Given the description of an element on the screen output the (x, y) to click on. 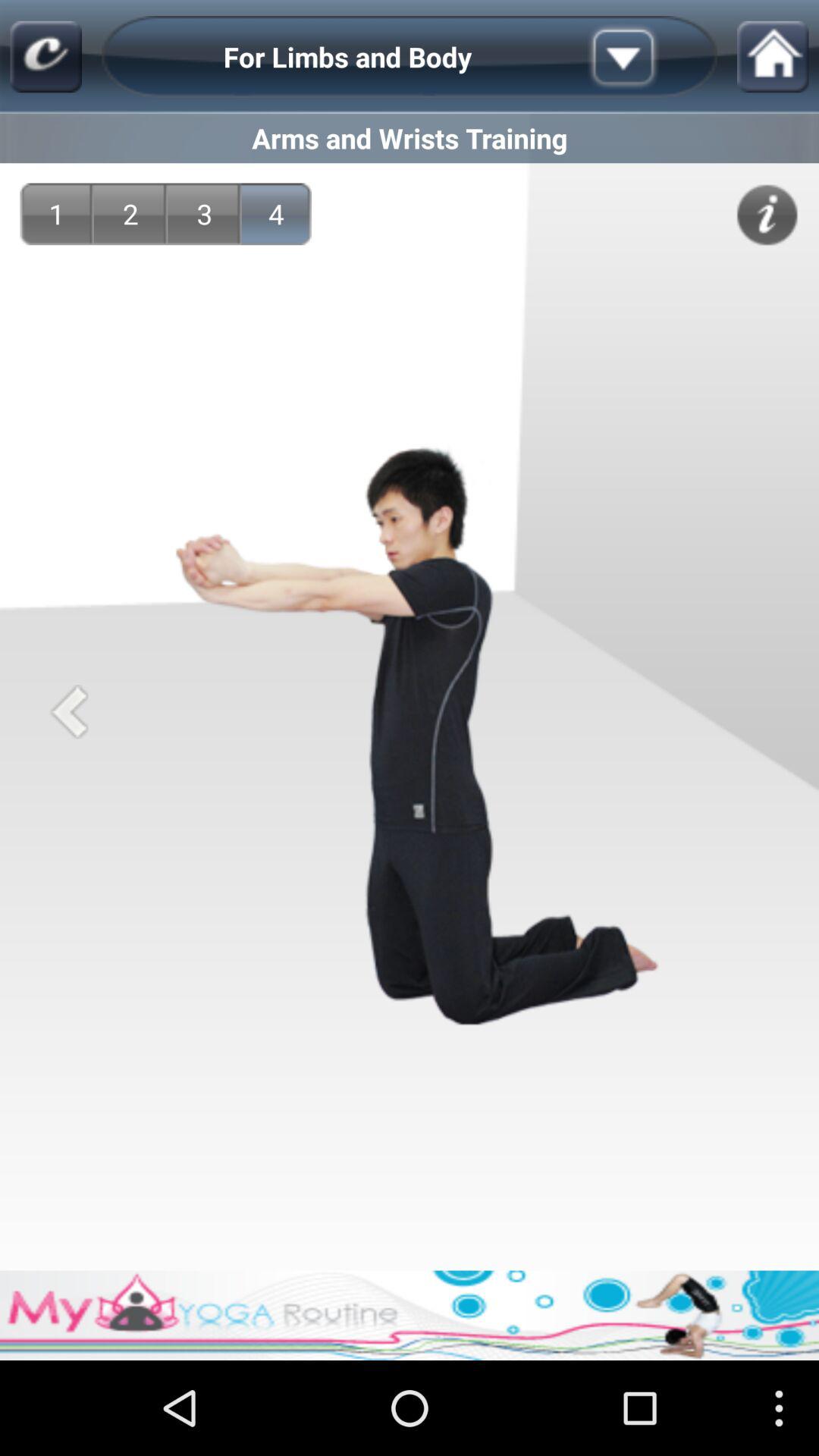
click here to change to different parts of the body (646, 56)
